Given the description of an element on the screen output the (x, y) to click on. 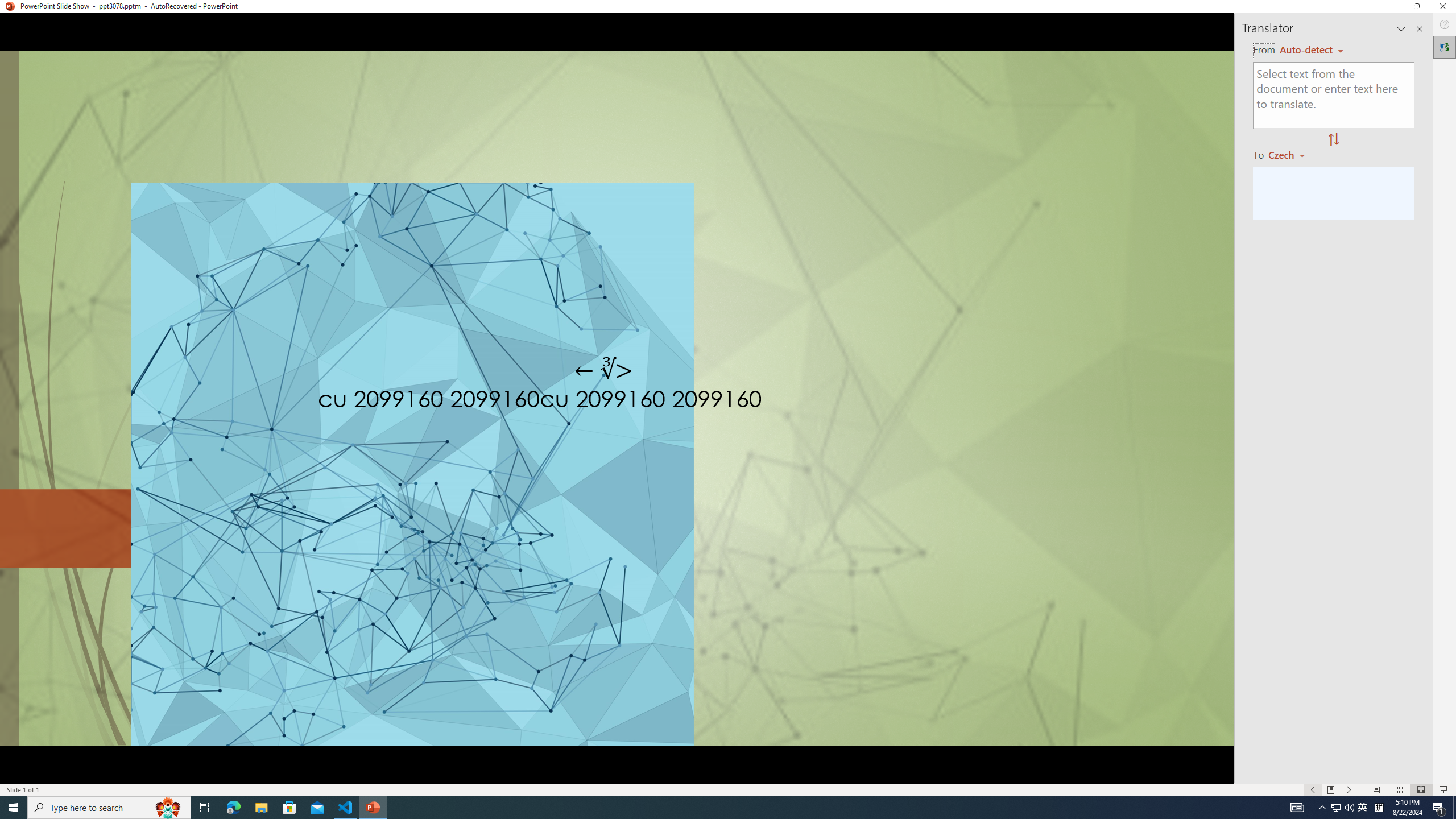
Menu On (1331, 790)
